Given the description of an element on the screen output the (x, y) to click on. 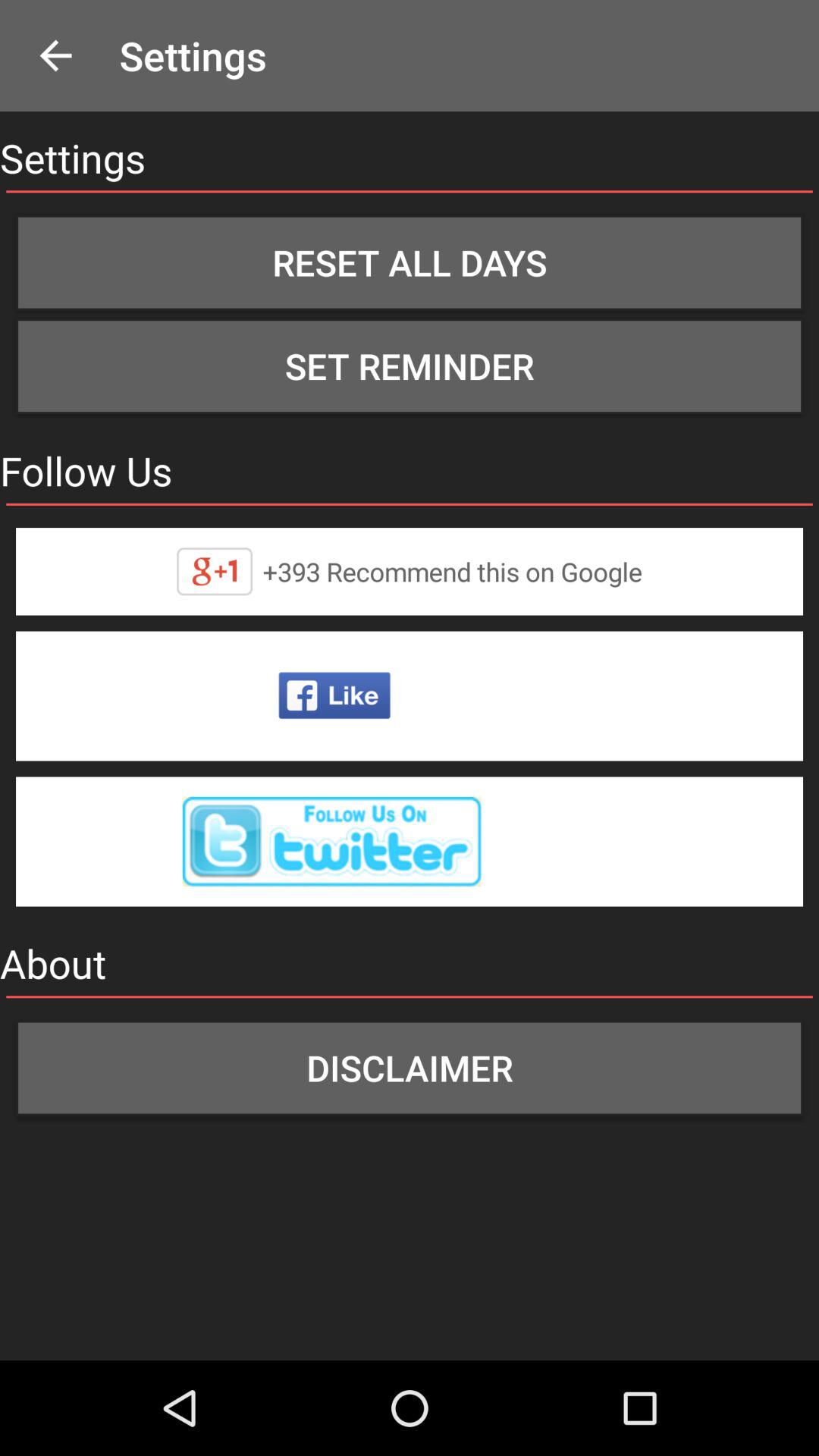
press reset all days icon (409, 262)
